Given the description of an element on the screen output the (x, y) to click on. 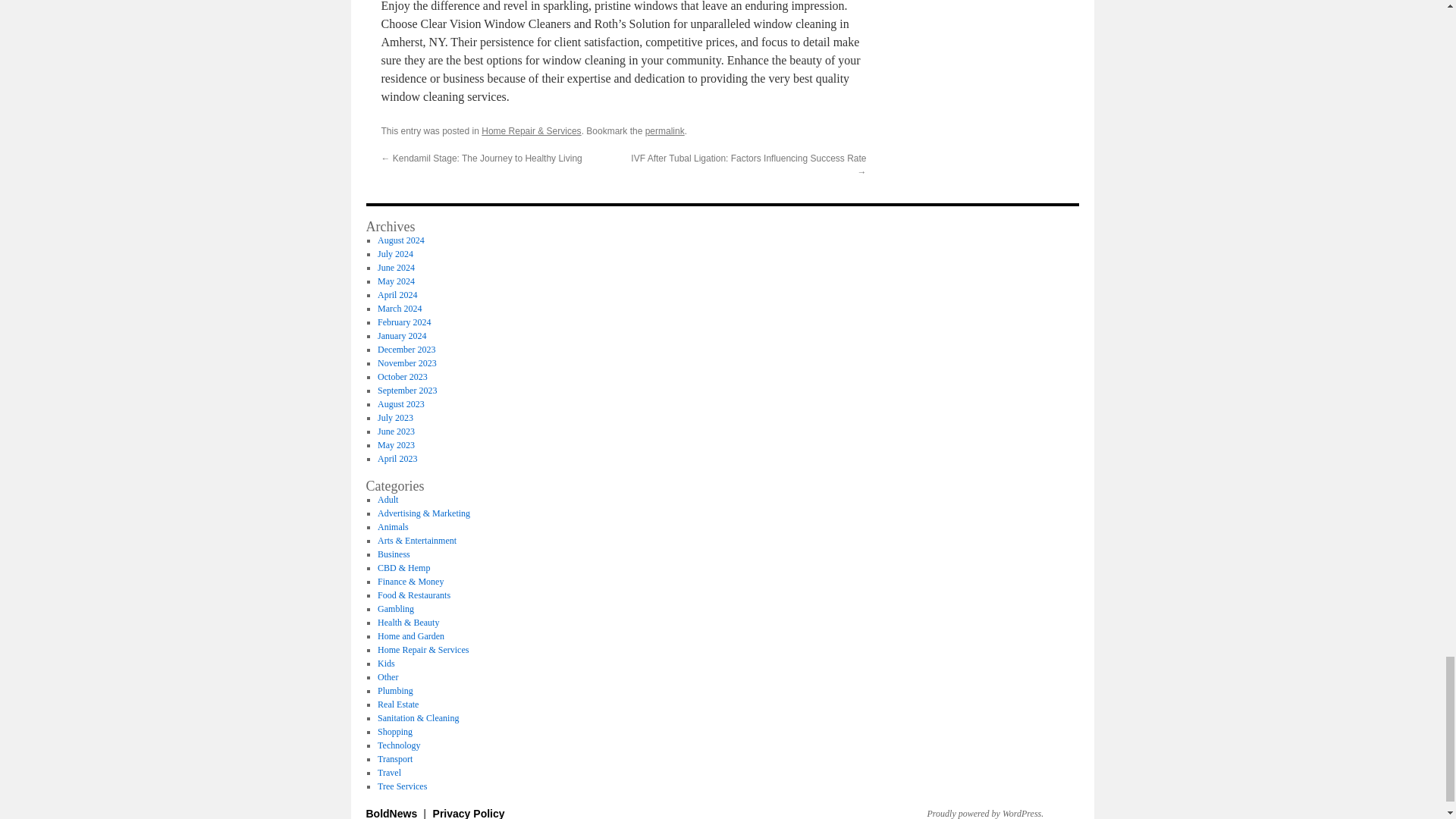
Adult (387, 499)
June 2023 (395, 430)
April 2024 (396, 294)
October 2023 (402, 376)
January 2024 (401, 335)
August 2023 (401, 403)
March 2024 (399, 308)
permalink (664, 131)
August 2024 (401, 240)
July 2024 (395, 253)
